Given the description of an element on the screen output the (x, y) to click on. 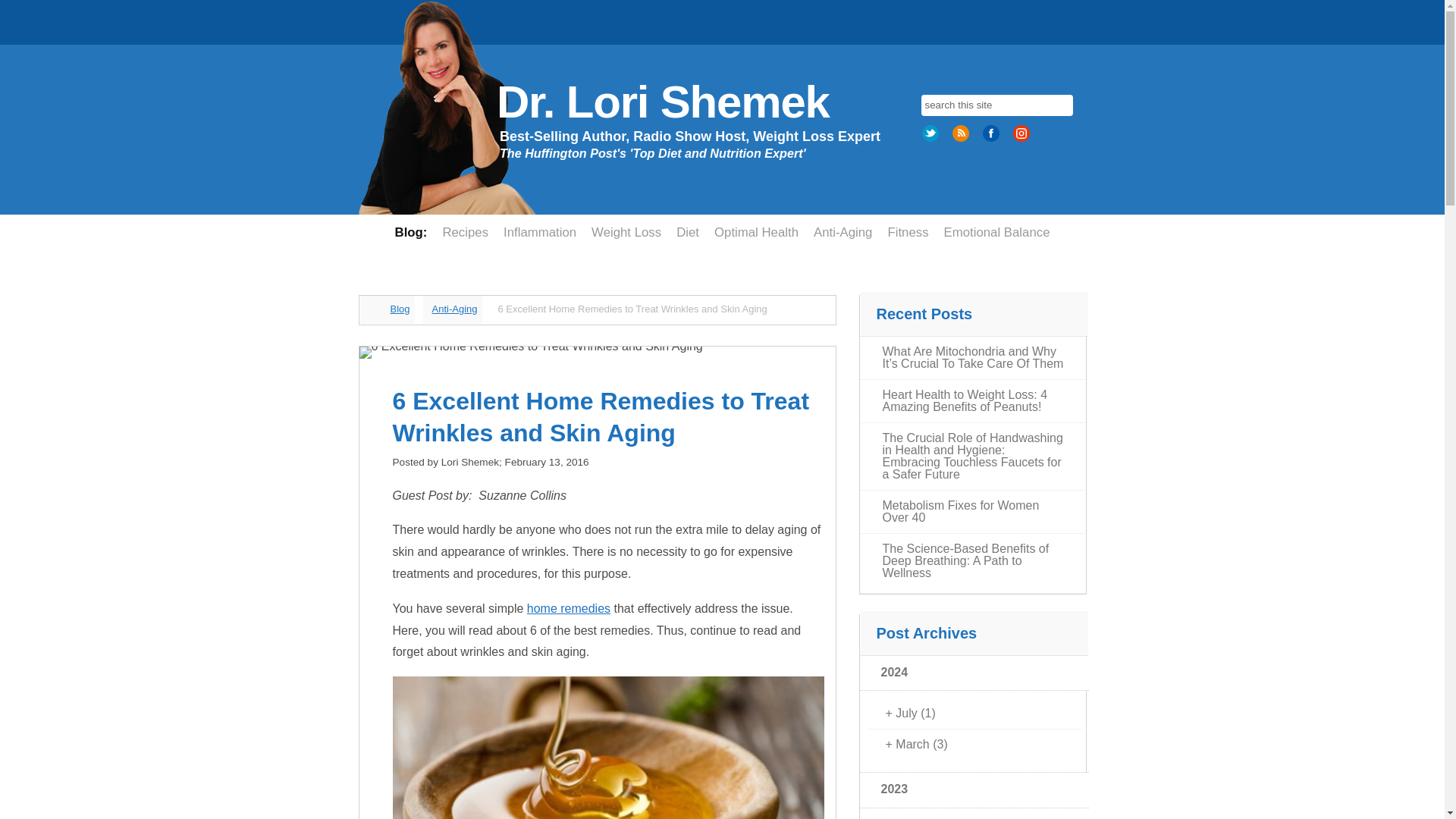
Emotional Balance (997, 232)
Anti-Aging (842, 232)
Optimal Health (756, 232)
home remedies (568, 608)
Diet (687, 232)
Weight Loss (625, 232)
Friend me on Facebook! (992, 139)
Heart Health to Weight Loss: 4 Amazing Benefits of Peanuts! (974, 401)
Recipes (464, 232)
